Given the description of an element on the screen output the (x, y) to click on. 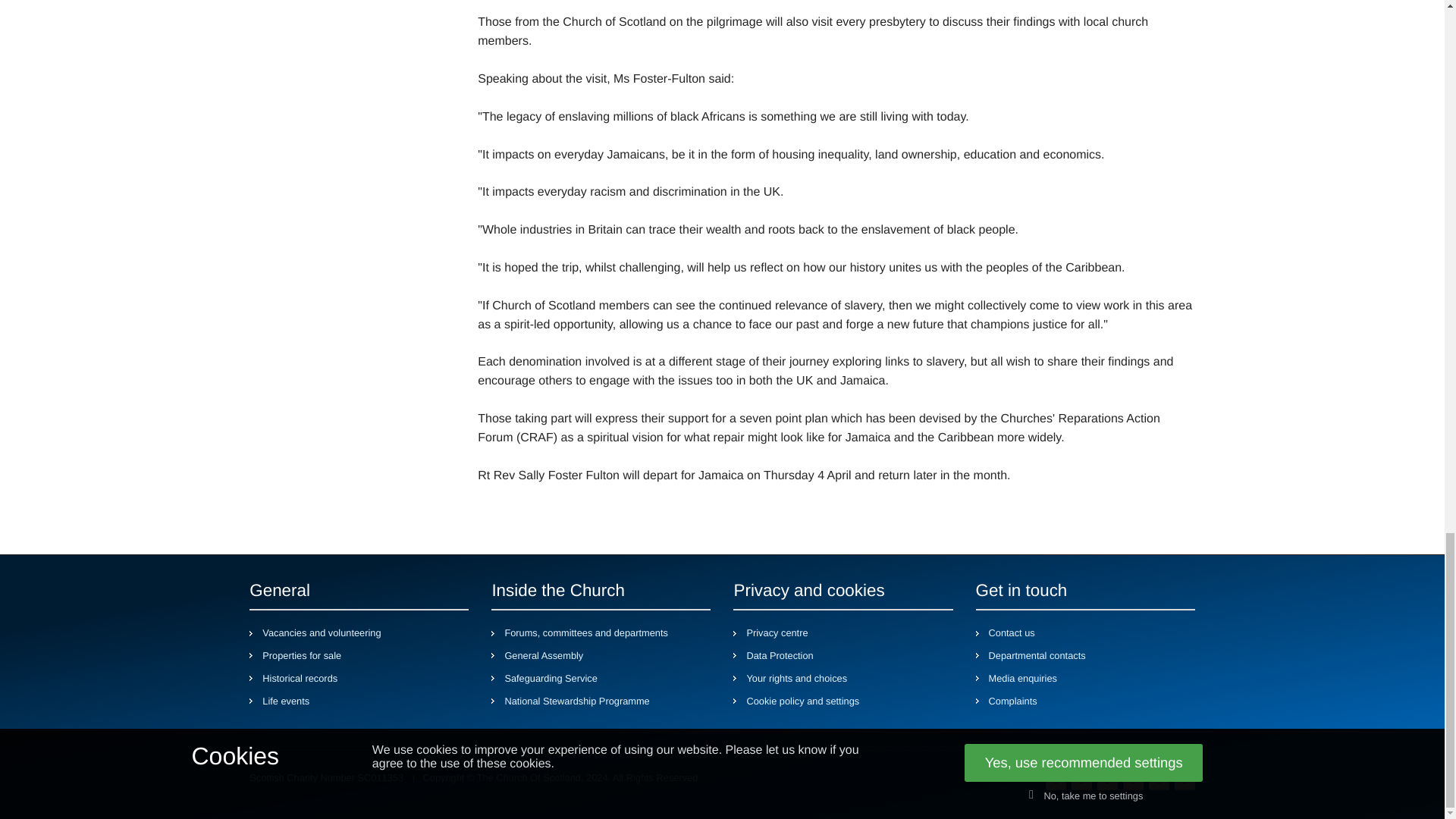
Media enquiries (1022, 678)
Church of Scotland Instagram (1107, 779)
Your rights and choices (796, 678)
General Assembly (543, 656)
Church of Scotland YouTube (1132, 779)
Safeguarding Service (549, 678)
Forums, committees and departments (585, 633)
Privacy centre (776, 633)
Cookie policy and settings (802, 701)
Data Protection (778, 656)
Vacancies and volunteering (321, 633)
Properties for sale (301, 656)
Church of Scotland on Linkedin (1184, 779)
National Stewardship Programme (576, 701)
Historical records (299, 678)
